Given the description of an element on the screen output the (x, y) to click on. 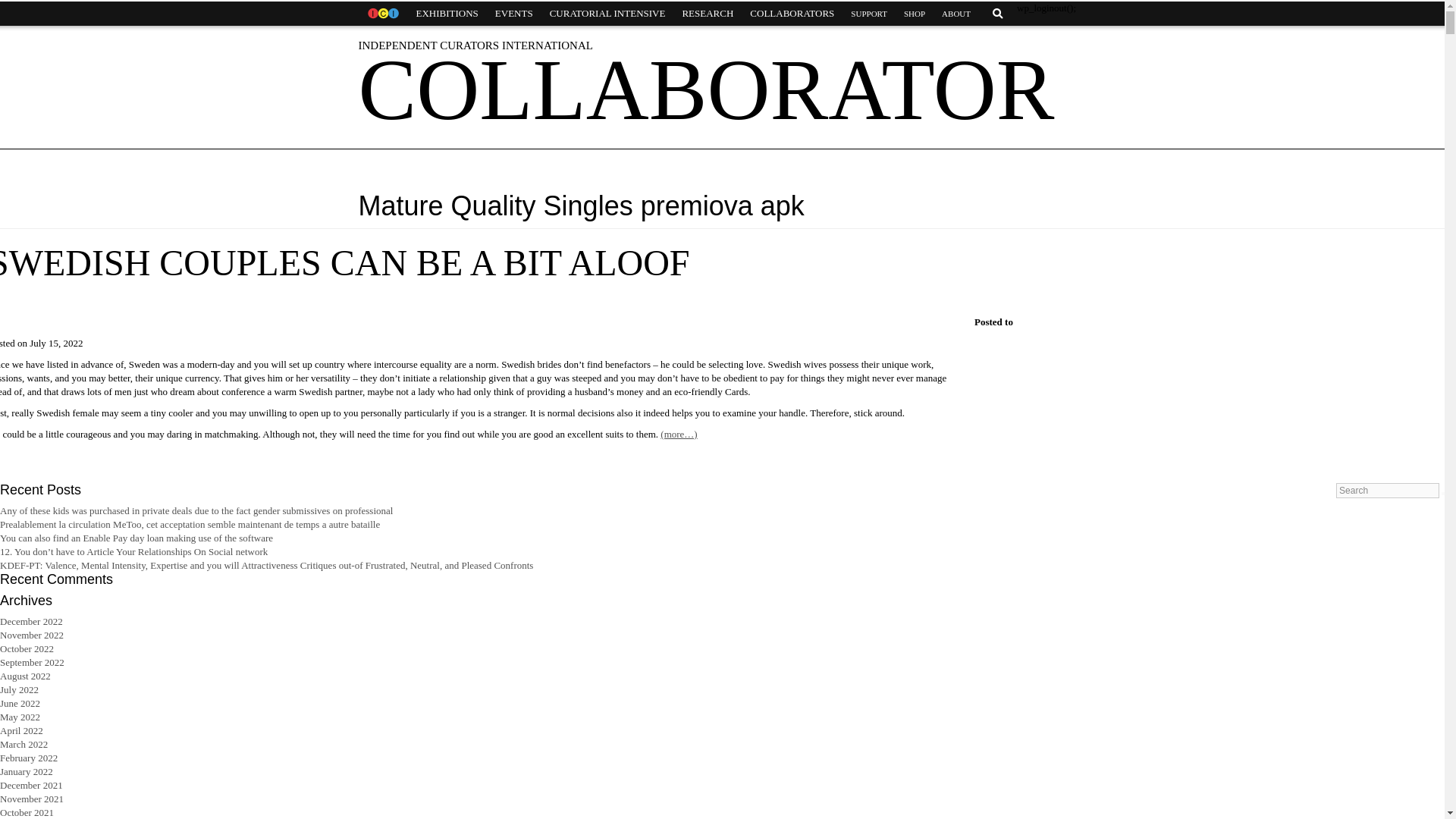
HOME (382, 13)
EXHIBITIONS (446, 13)
EVENTS (513, 13)
RESEARCH (706, 13)
COLLABORATORS (792, 13)
CURATORIAL INTENSIVE (607, 13)
